Given the description of an element on the screen output the (x, y) to click on. 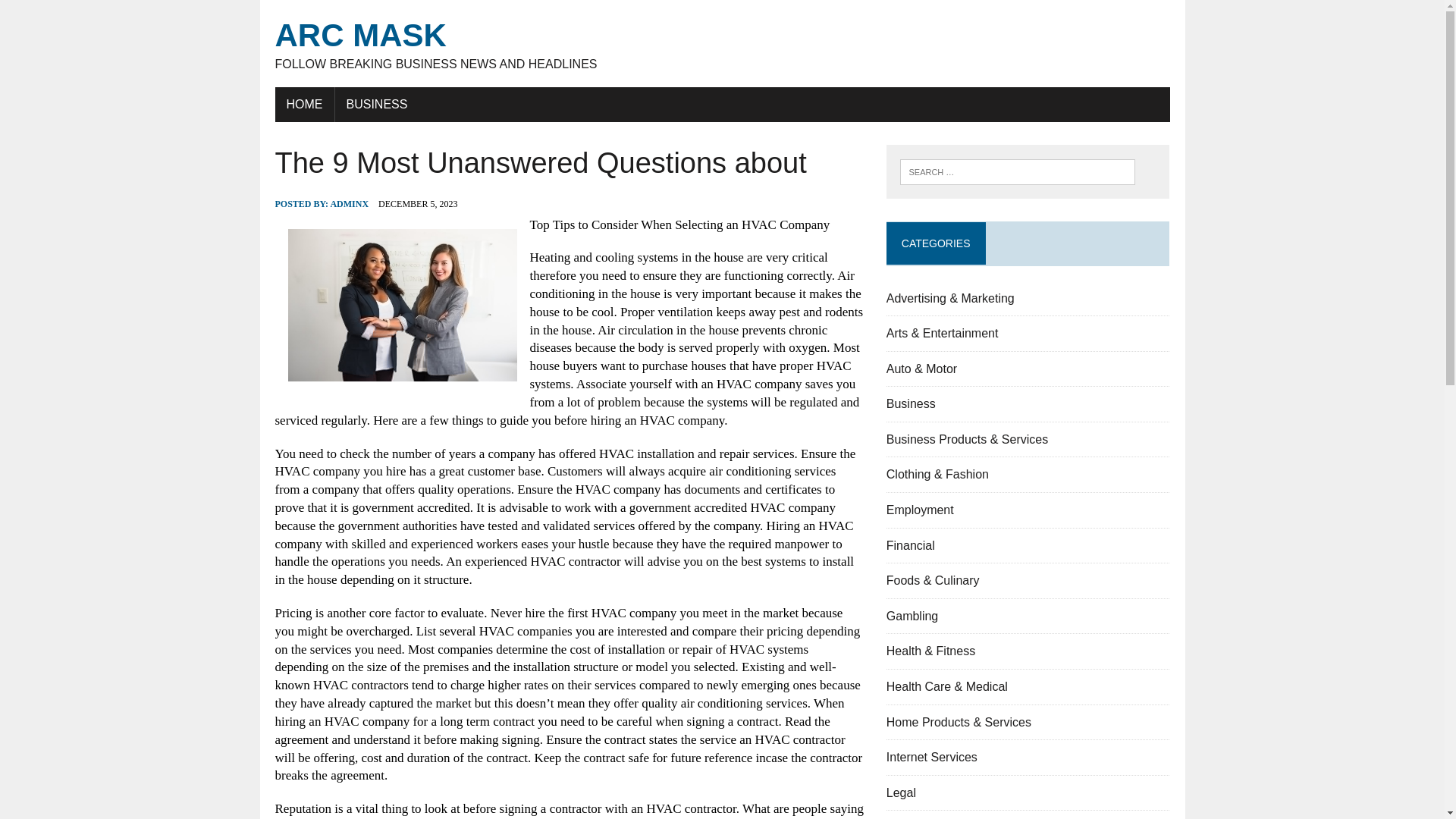
HOME (304, 104)
ADMINX (349, 204)
Internet Services (931, 757)
Arc Mask (722, 43)
Business (911, 403)
BUSINESS (376, 104)
Gambling (722, 43)
Search (911, 615)
Financial (75, 14)
